Given the description of an element on the screen output the (x, y) to click on. 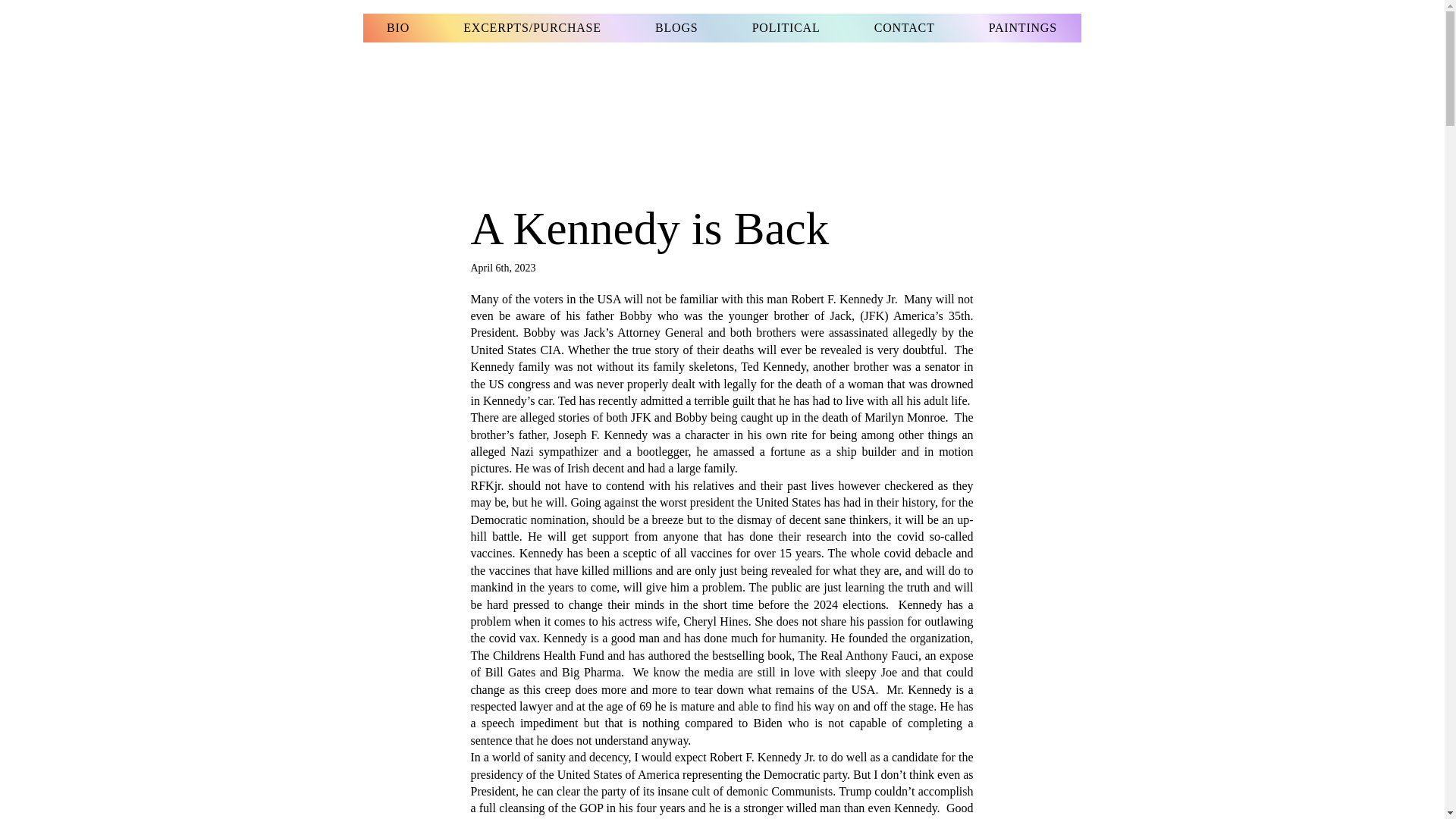
BIO (397, 27)
